Given the description of an element on the screen output the (x, y) to click on. 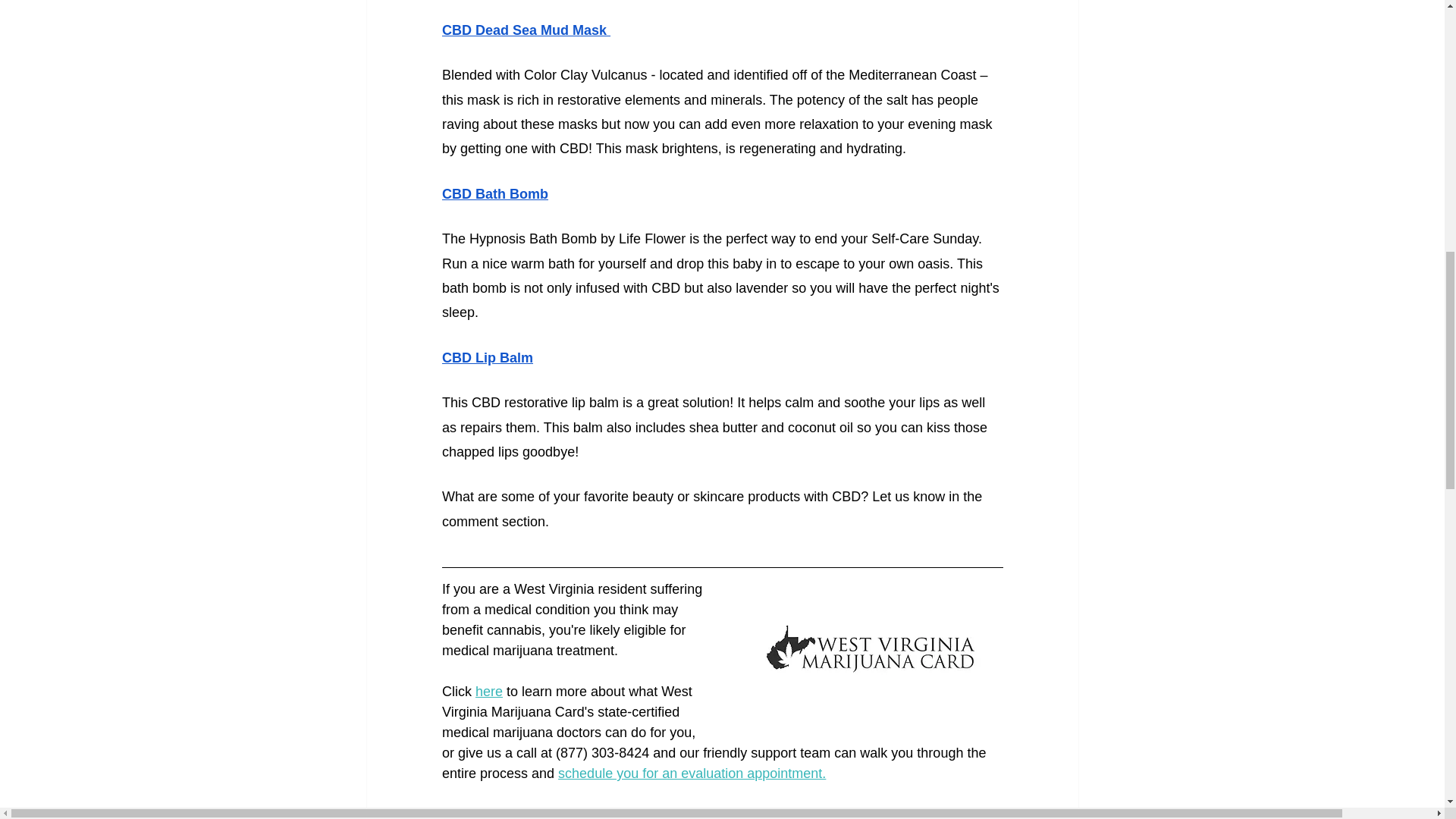
schedule you for an evaluation appointment. (691, 773)
CBD Bath Bomb (494, 193)
here (488, 691)
CBD Lip Balm (486, 357)
CBD Dead Sea Mud Mask  (525, 29)
